Given the description of an element on the screen output the (x, y) to click on. 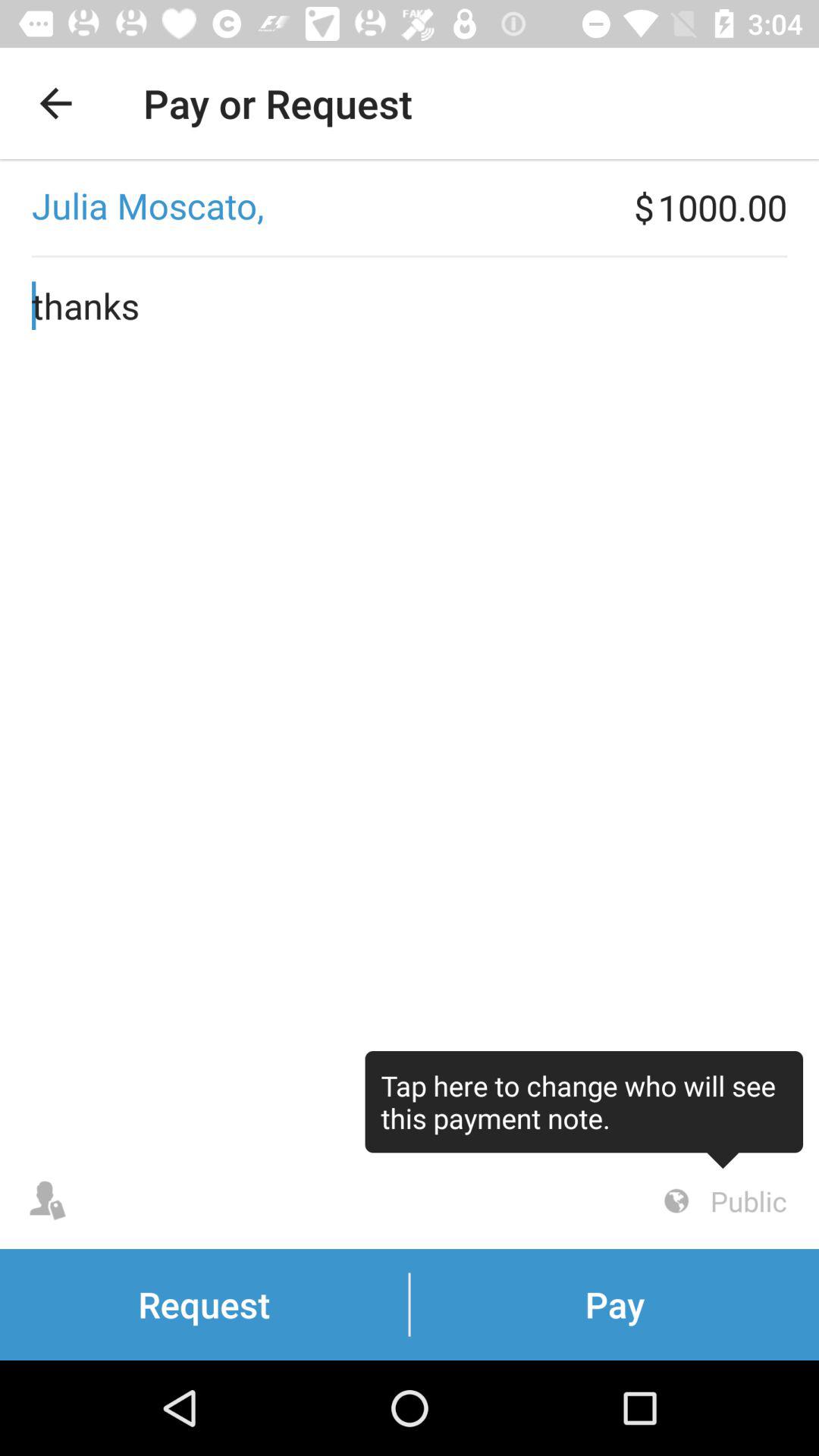
launch icon next to the $ (317, 207)
